Given the description of an element on the screen output the (x, y) to click on. 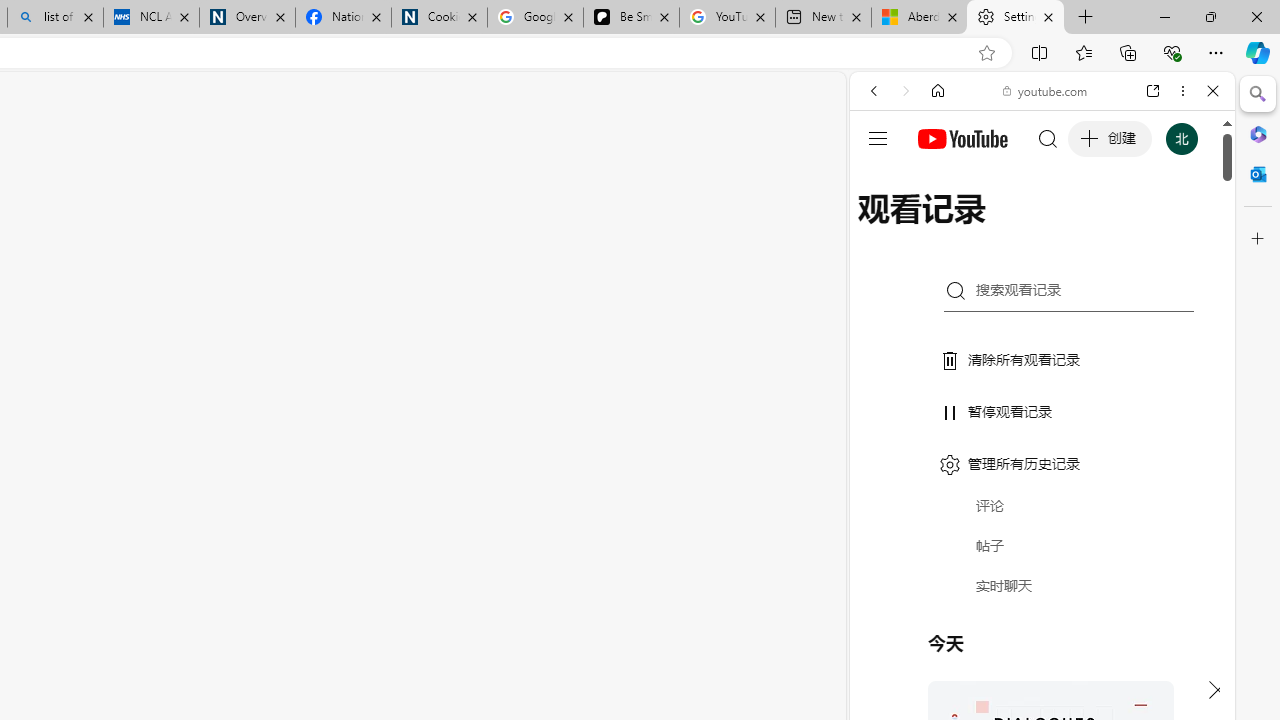
Search videos from youtube.com (1005, 657)
